Given the description of an element on the screen output the (x, y) to click on. 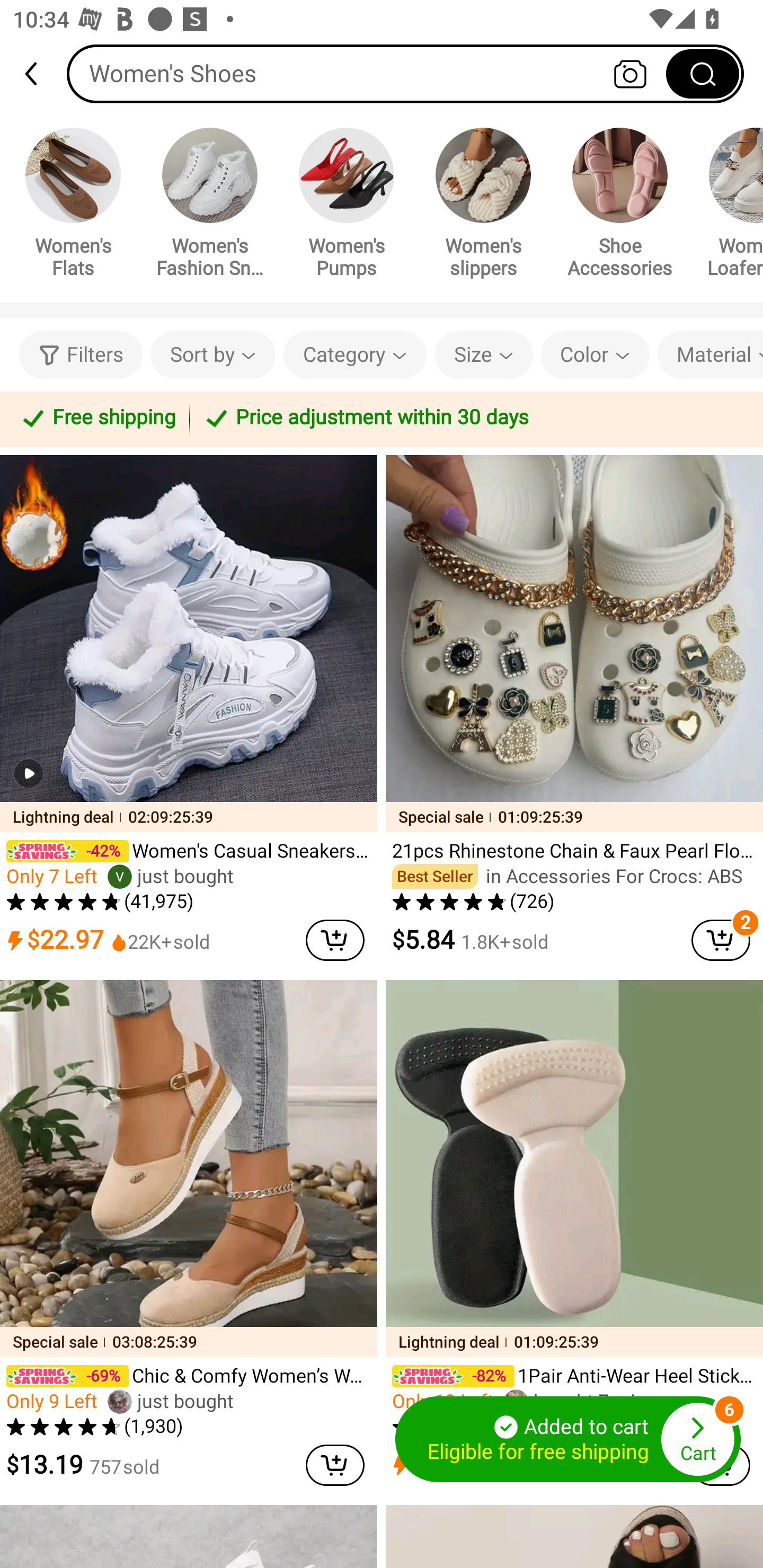
back (39, 73)
Women's Shoes (405, 73)
Women's Flats (73, 205)
Women's Fashion Sneakers (209, 205)
Women's Pumps (346, 205)
Women's slippers (483, 205)
Shoe Accessories (619, 205)
Filters (80, 354)
Sort by (212, 354)
Category (354, 354)
Size (483, 354)
Color (594, 354)
Free shipping (97, 418)
Price adjustment within 30 days (472, 418)
cart delete (334, 939)
cart delete (720, 939)
￼ Added to cart Eligible for free shipping Cart (567, 1439)
cart delete (334, 1465)
